Given the description of an element on the screen output the (x, y) to click on. 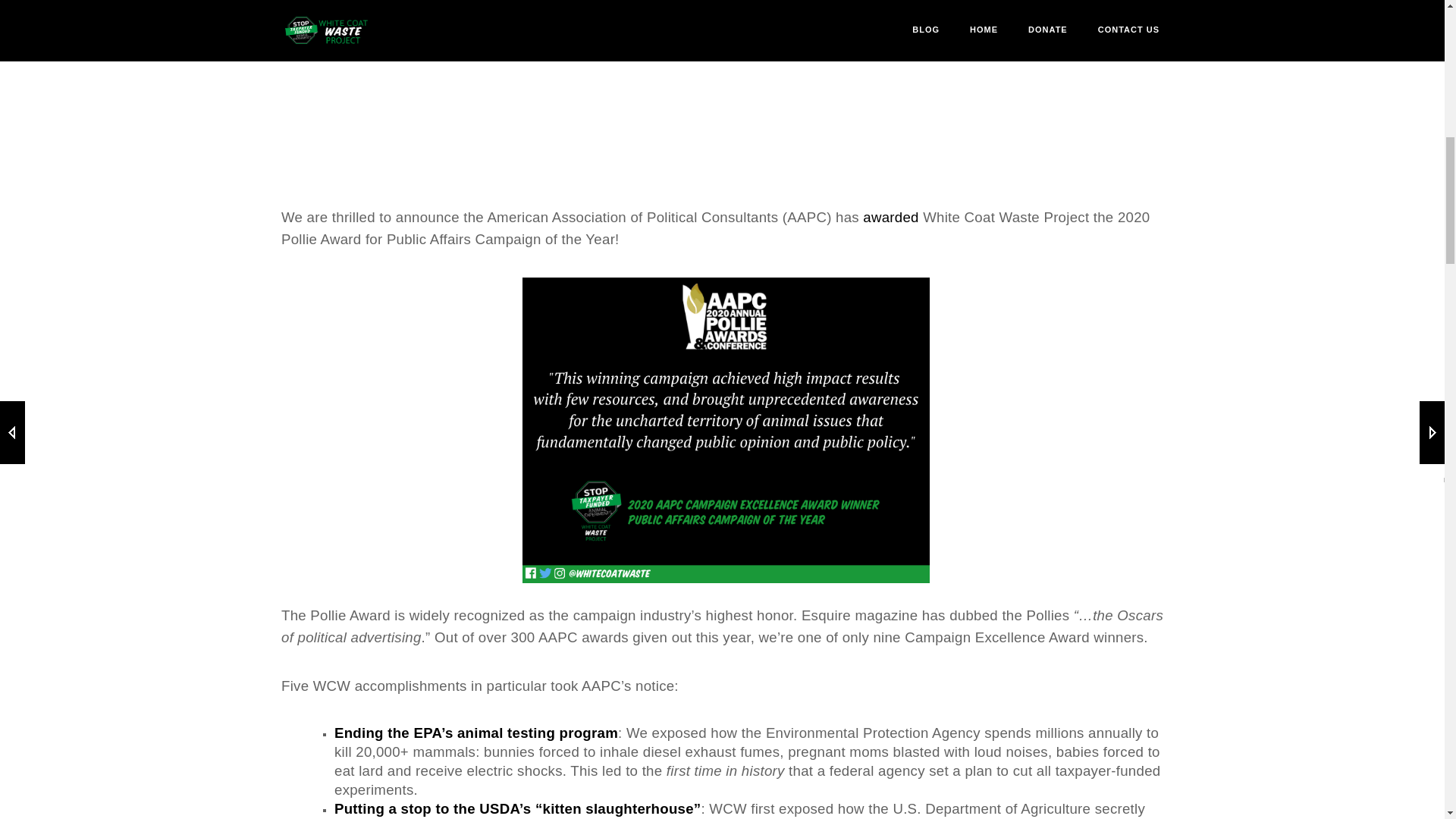
awarded (890, 217)
